Given the description of an element on the screen output the (x, y) to click on. 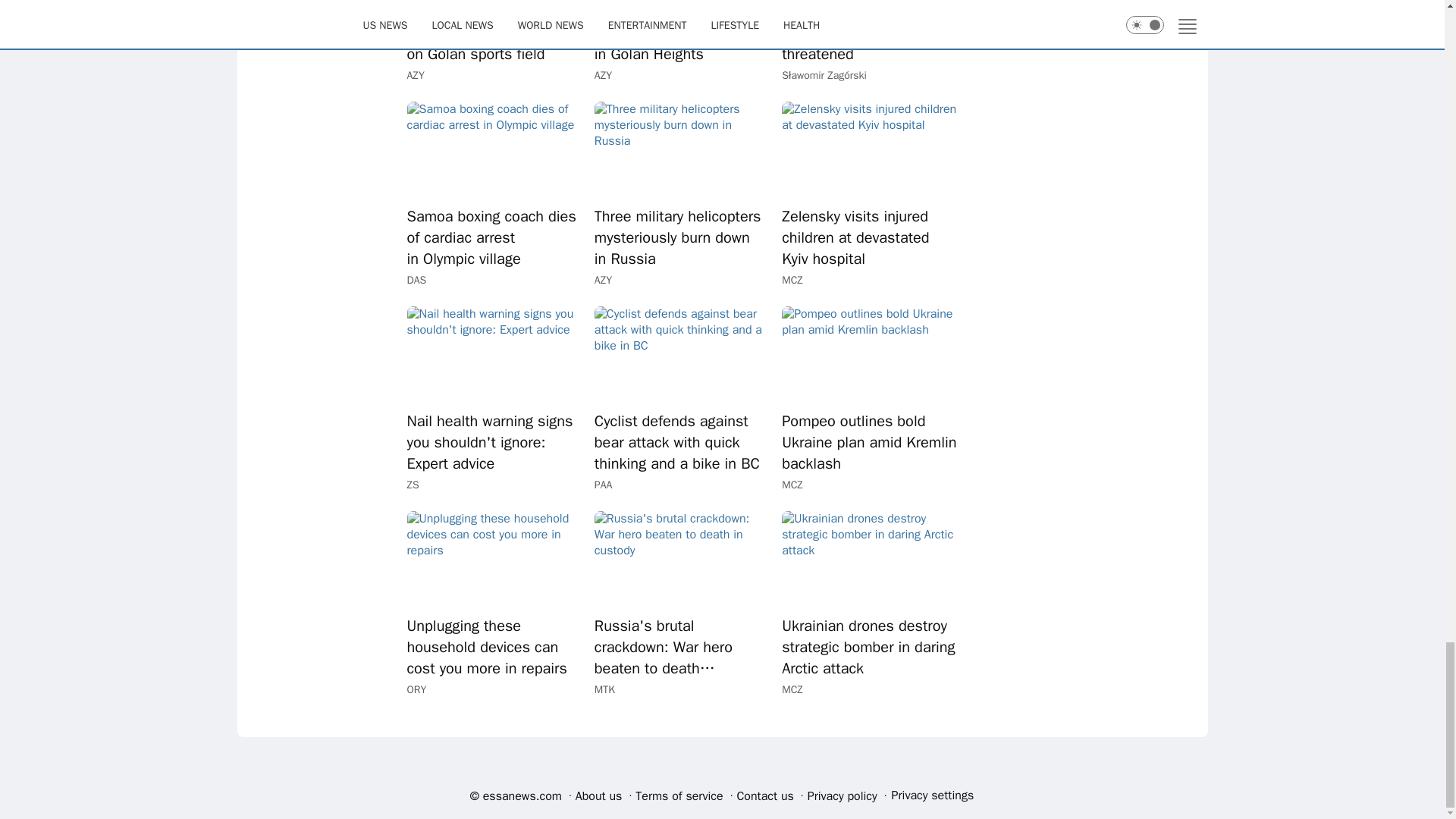
Three military helicopters mysteriously burn down in Russia (682, 238)
Zelensky visits injured children at devastated Kyiv hospital (868, 238)
Mines and chaos: Ukraine's Black Sea trade threatened (868, 33)
Three military helicopters mysteriously burn down in Russia (682, 238)
Zelensky visits injured children at devastated Kyiv hospital (868, 150)
Three military helicopters mysteriously burn down in Russia (682, 150)
Samoa boxing coach dies of cardiac arrest in Olympic village (493, 150)
Zelensky visits injured children at devastated Kyiv hospital (868, 238)
